Given the description of an element on the screen output the (x, y) to click on. 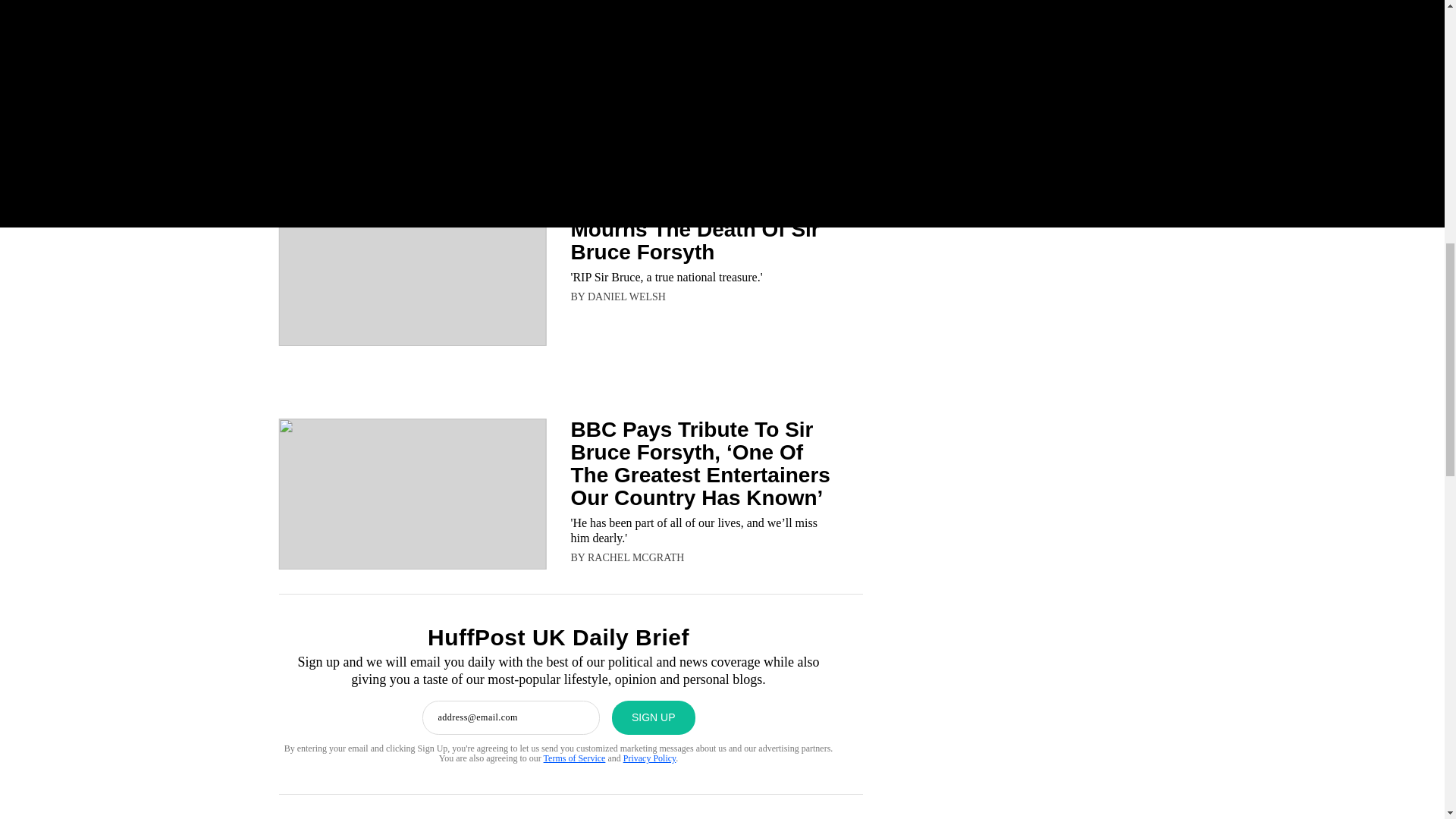
SIGN UP (653, 717)
